Given the description of an element on the screen output the (x, y) to click on. 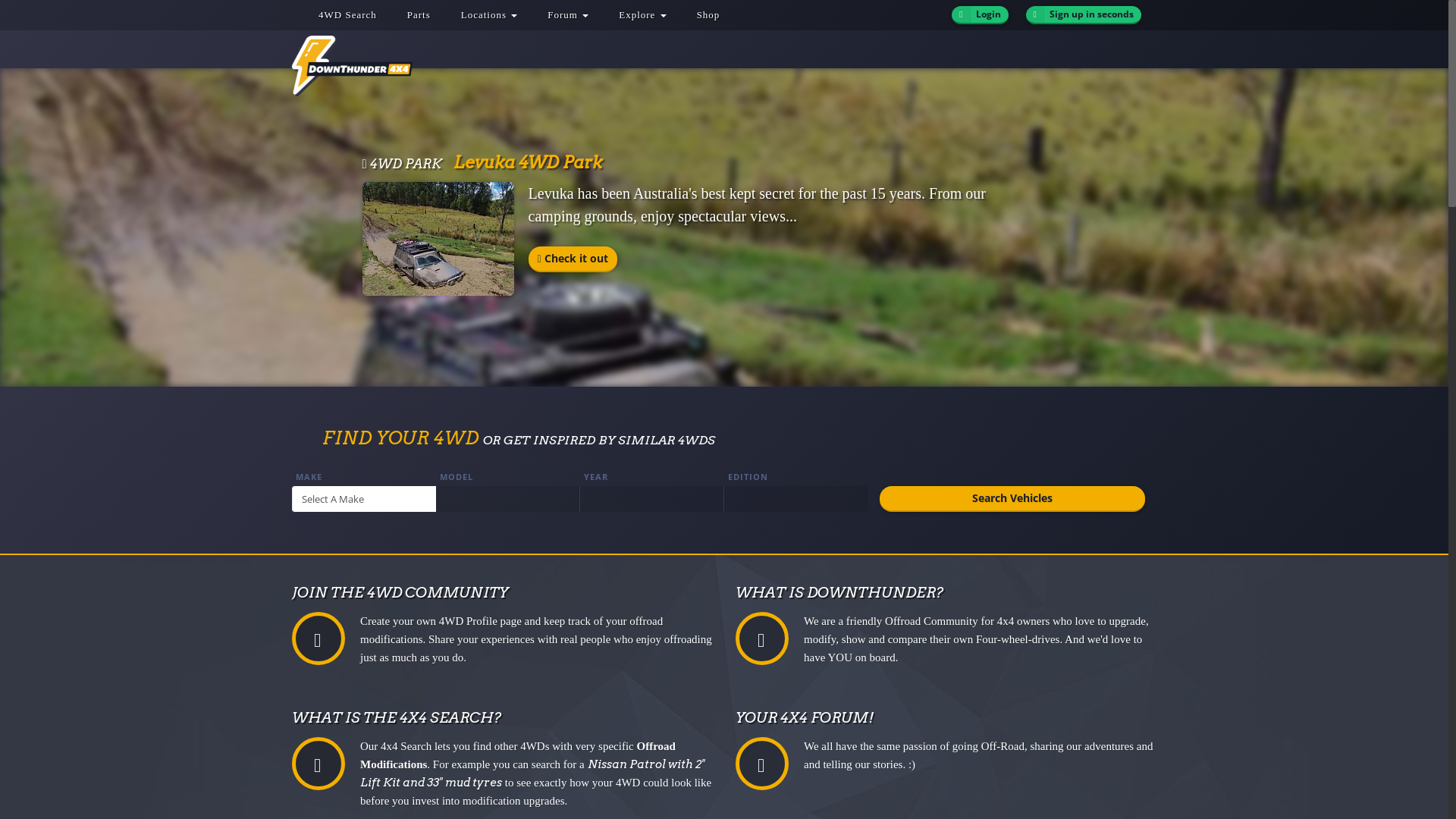
Link to the 4x4 Forum Element type: hover (761, 763)
4WD Search Element type: text (347, 15)
Forum Element type: text (567, 15)
Search Vehicles Element type: text (1012, 498)
Sign up in seconds Element type: text (1083, 15)
Parts Element type: text (418, 15)
Shop Element type: text (708, 15)
Explore Element type: text (641, 15)
Link to the 4WD Vehicle Search Element type: hover (318, 763)
Check it out Element type: text (572, 259)
Link to the About Us page Element type: hover (761, 638)
Login Element type: text (979, 15)
Locations Element type: text (489, 15)
